Given the description of an element on the screen output the (x, y) to click on. 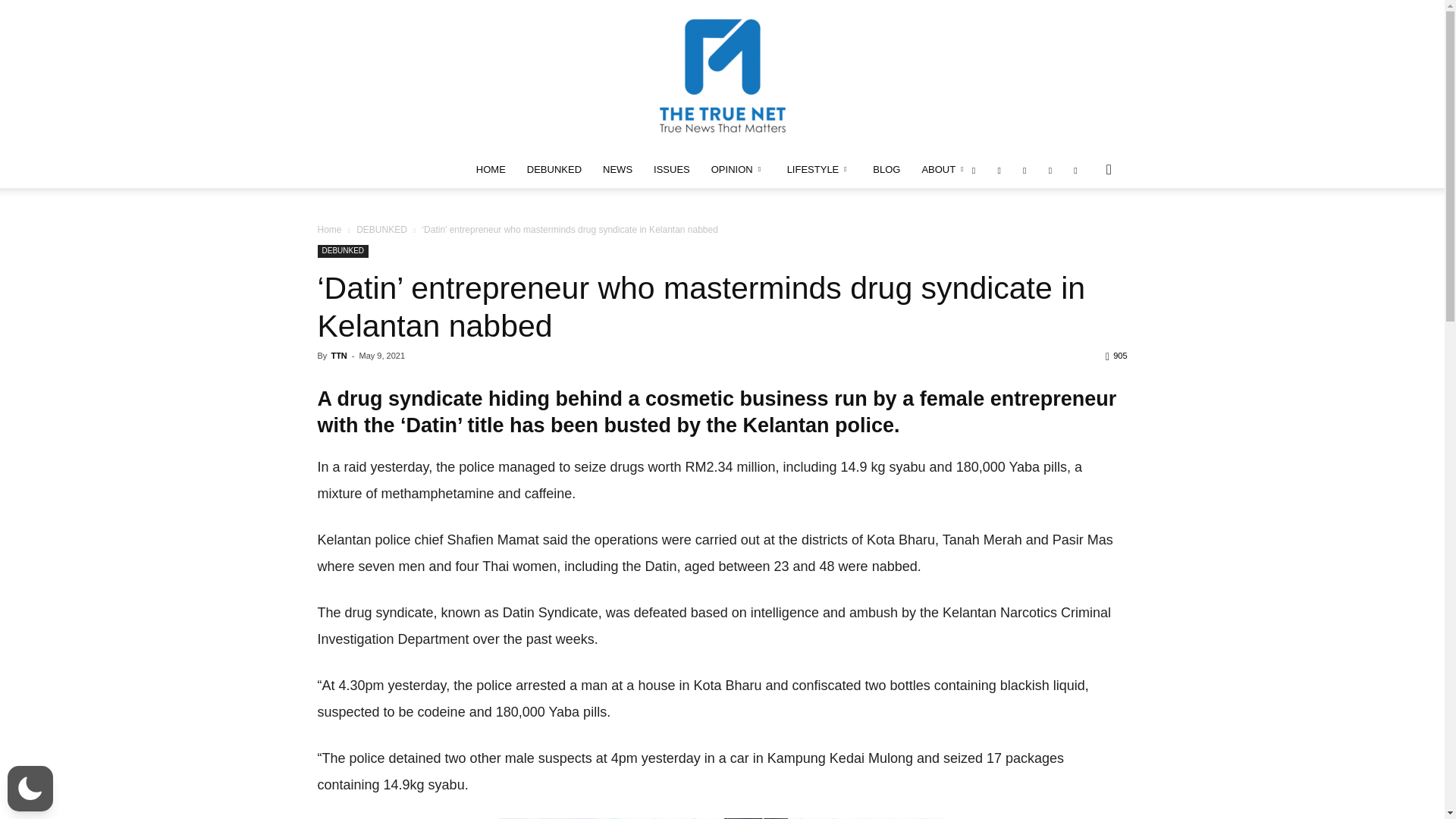
HOME (490, 169)
OPINION (738, 169)
ISSUES (671, 169)
DEBUNKED (554, 169)
View all posts in DEBUNKED (381, 229)
True News That Matters (721, 75)
NEWS (617, 169)
